Given the description of an element on the screen output the (x, y) to click on. 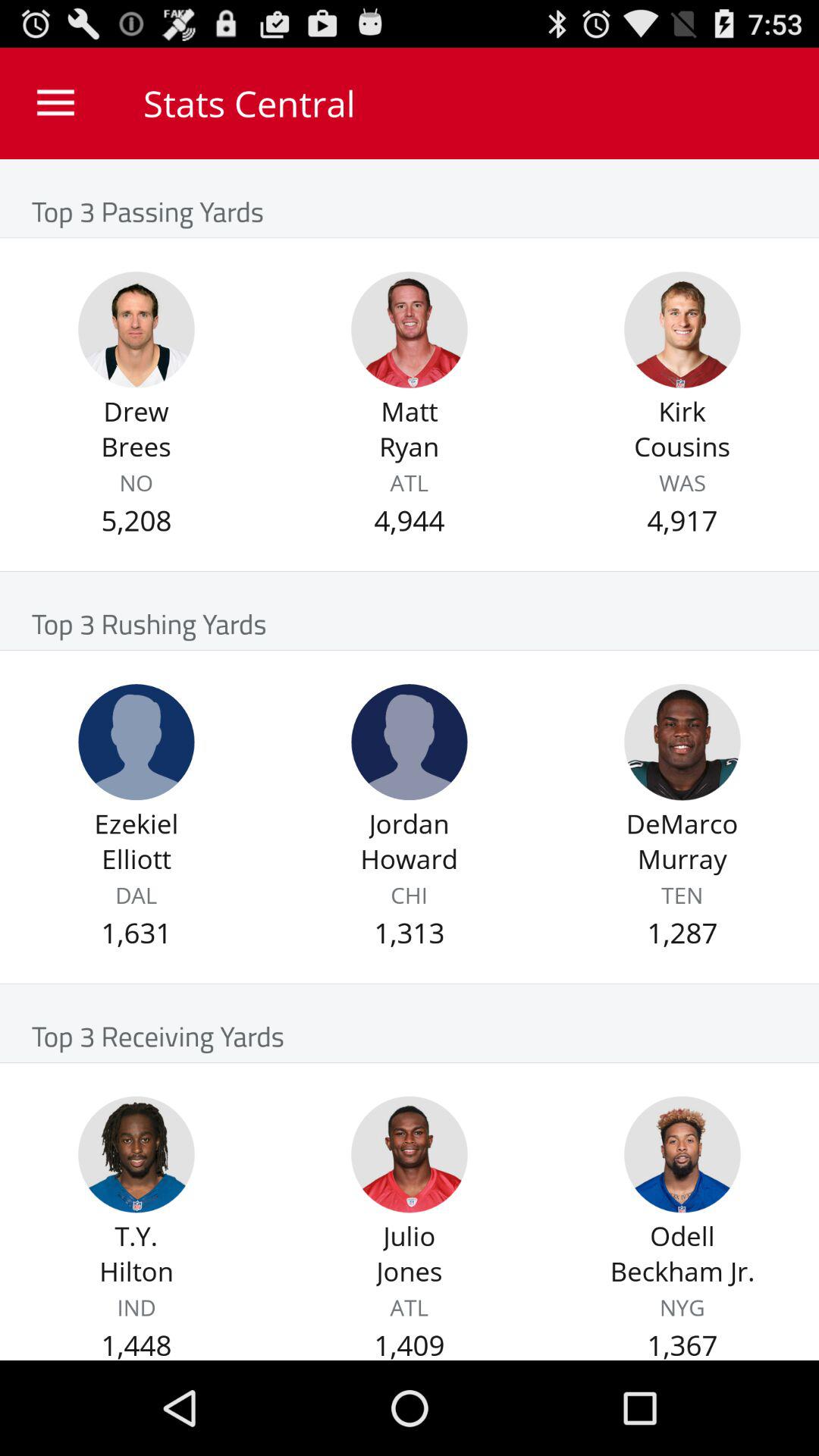
open profile (136, 329)
